Given the description of an element on the screen output the (x, y) to click on. 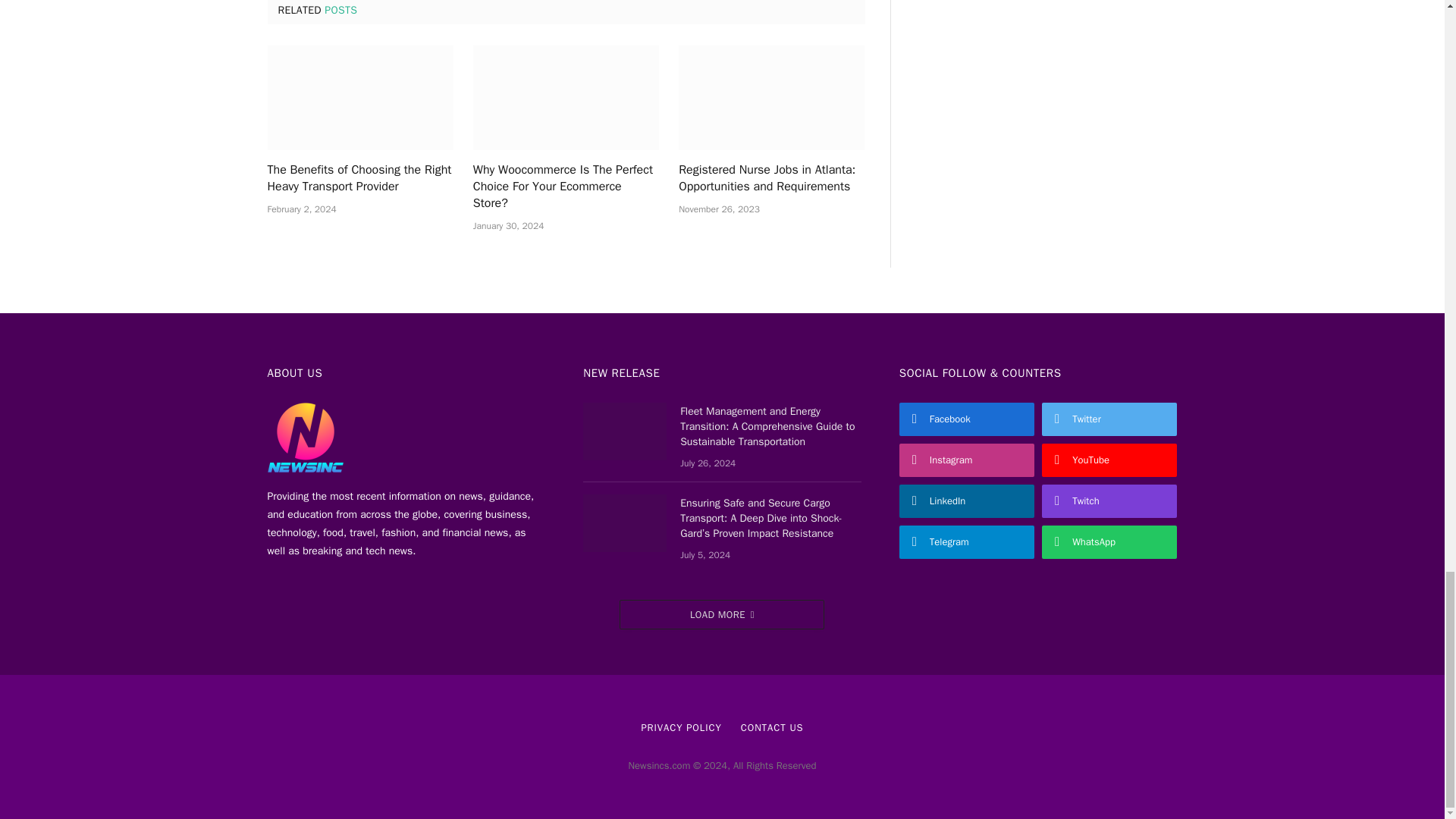
The Benefits of Choosing the Right Heavy Transport Provider (359, 97)
The Benefits of Choosing the Right Heavy Transport Provider (359, 178)
